Given the description of an element on the screen output the (x, y) to click on. 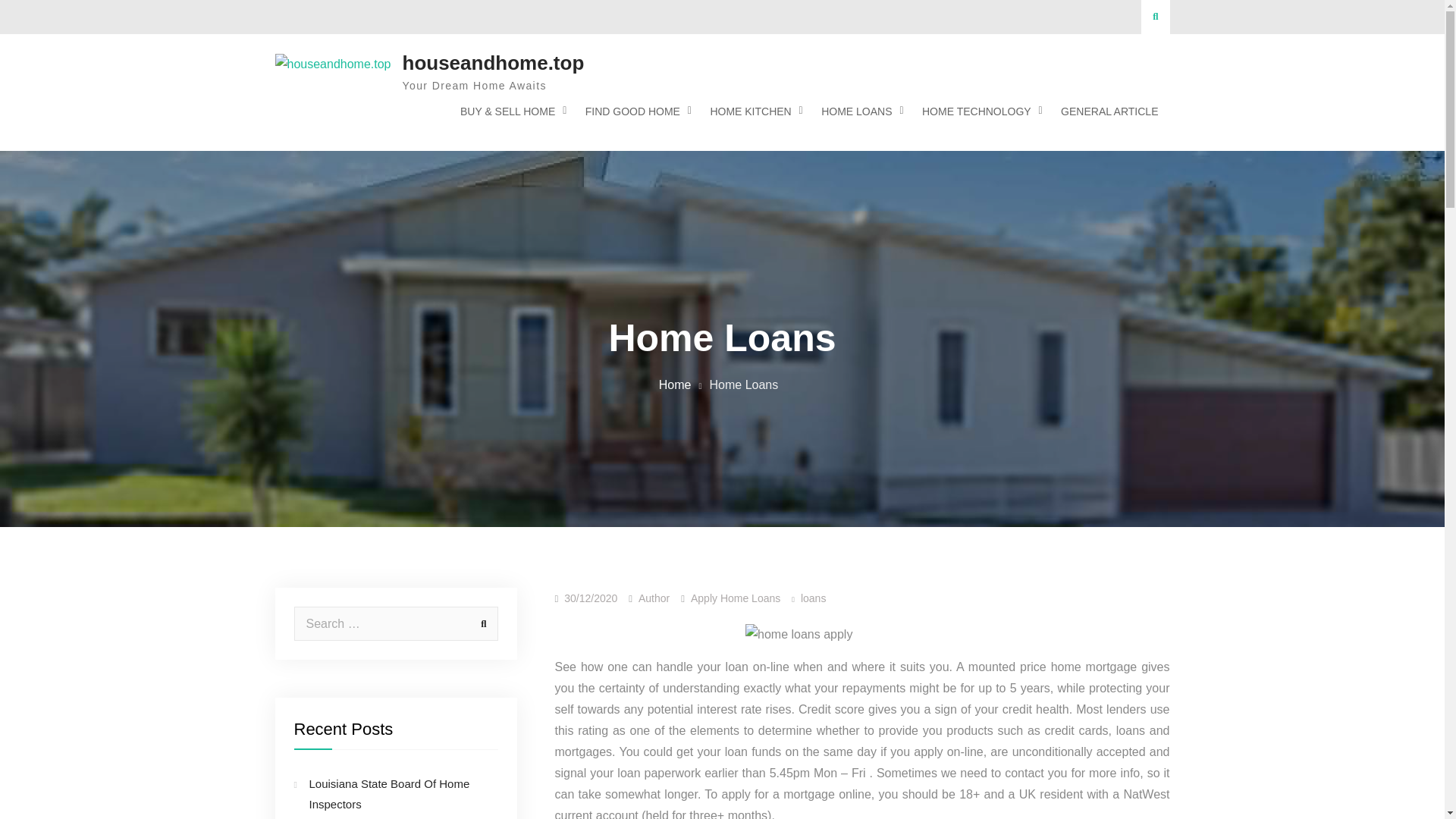
HOME TECHNOLOGY (978, 111)
houseandhome.top (492, 62)
FIND GOOD HOME (634, 111)
HOME KITCHEN (752, 111)
HOME LOANS (858, 111)
